Given the description of an element on the screen output the (x, y) to click on. 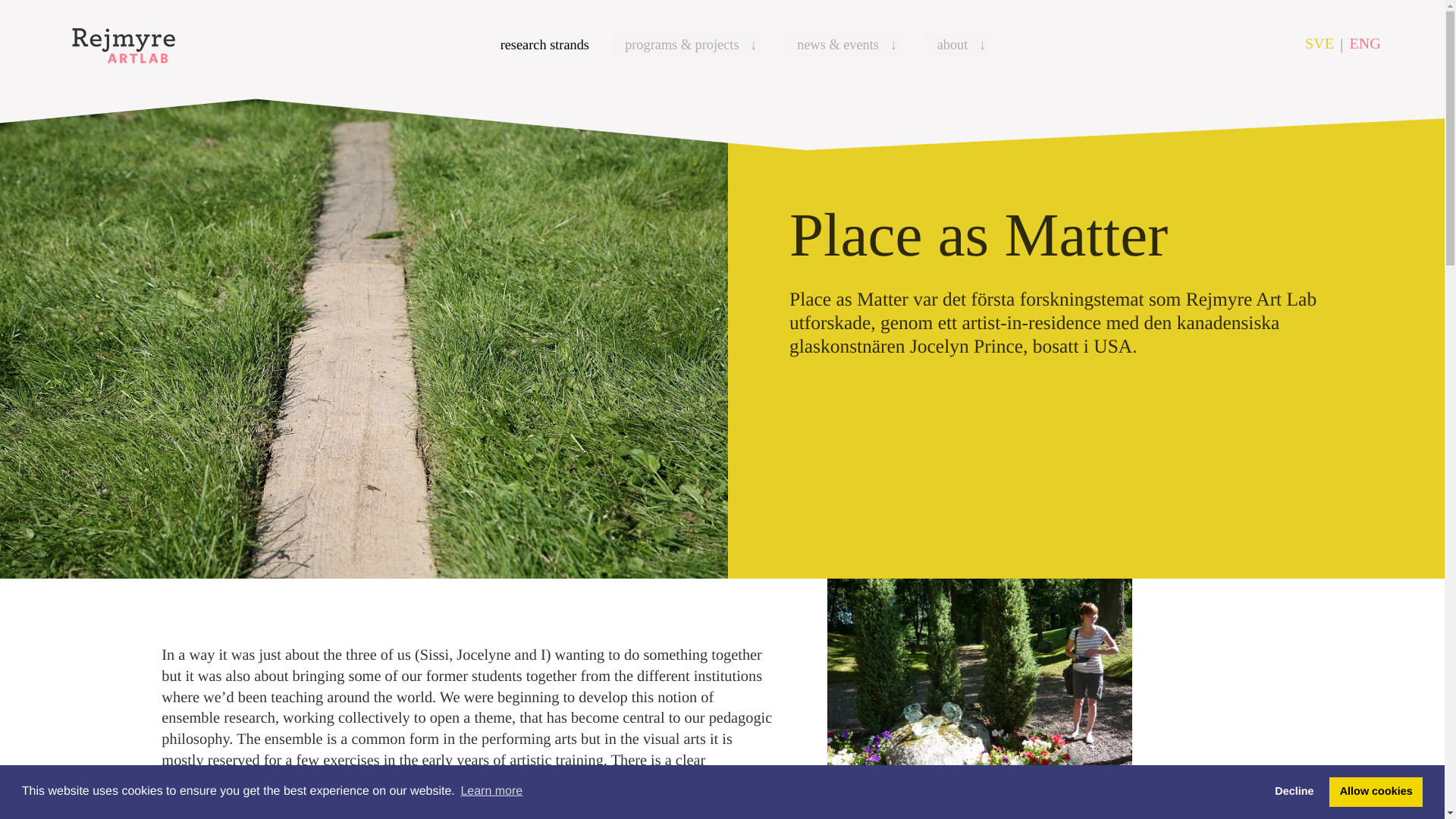
research strands (545, 44)
Learn more (491, 791)
Decline (1294, 791)
SVE (1319, 43)
Allow cookies (1375, 791)
ENG (1364, 43)
